Given the description of an element on the screen output the (x, y) to click on. 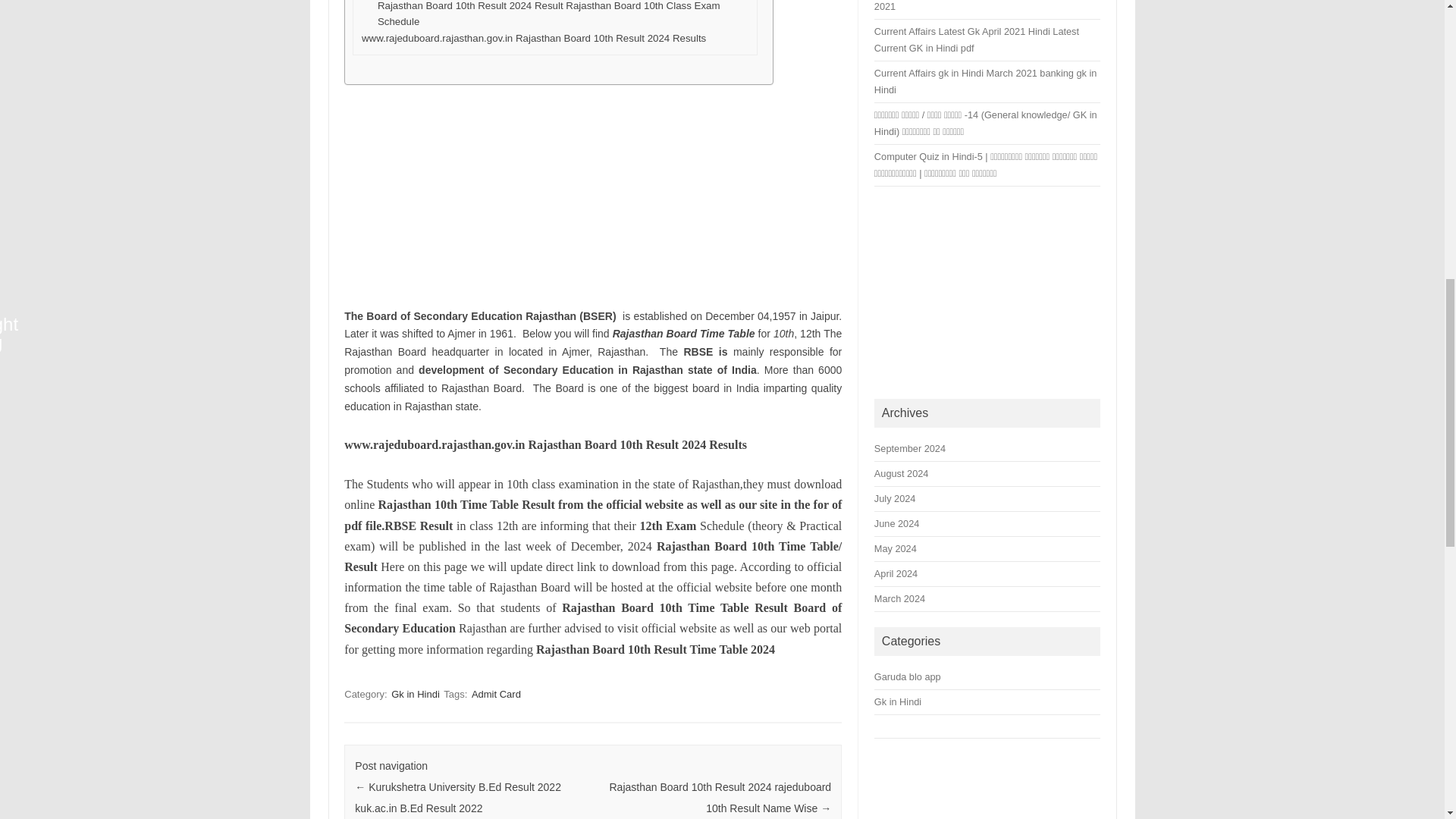
Gk in Hindi (415, 694)
Current Affairs 2021 gk in hindi General Knowledge 2021 (984, 6)
Admit Card (496, 694)
Current Affairs gk in Hindi March 2021 banking gk in Hindi (986, 81)
Advertisement (987, 292)
